Given the description of an element on the screen output the (x, y) to click on. 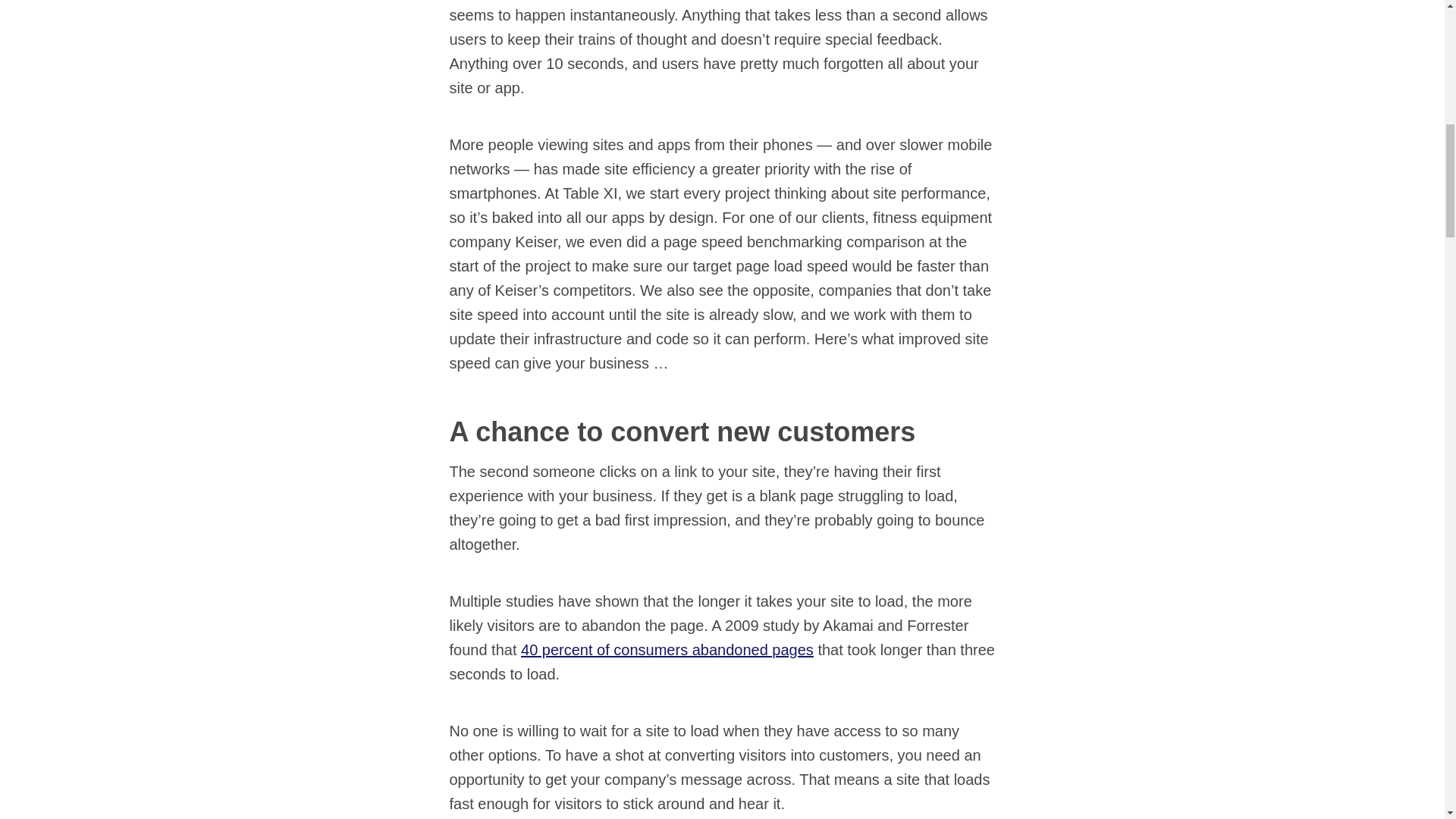
40 percent of consumers abandoned pages (667, 649)
